Given the description of an element on the screen output the (x, y) to click on. 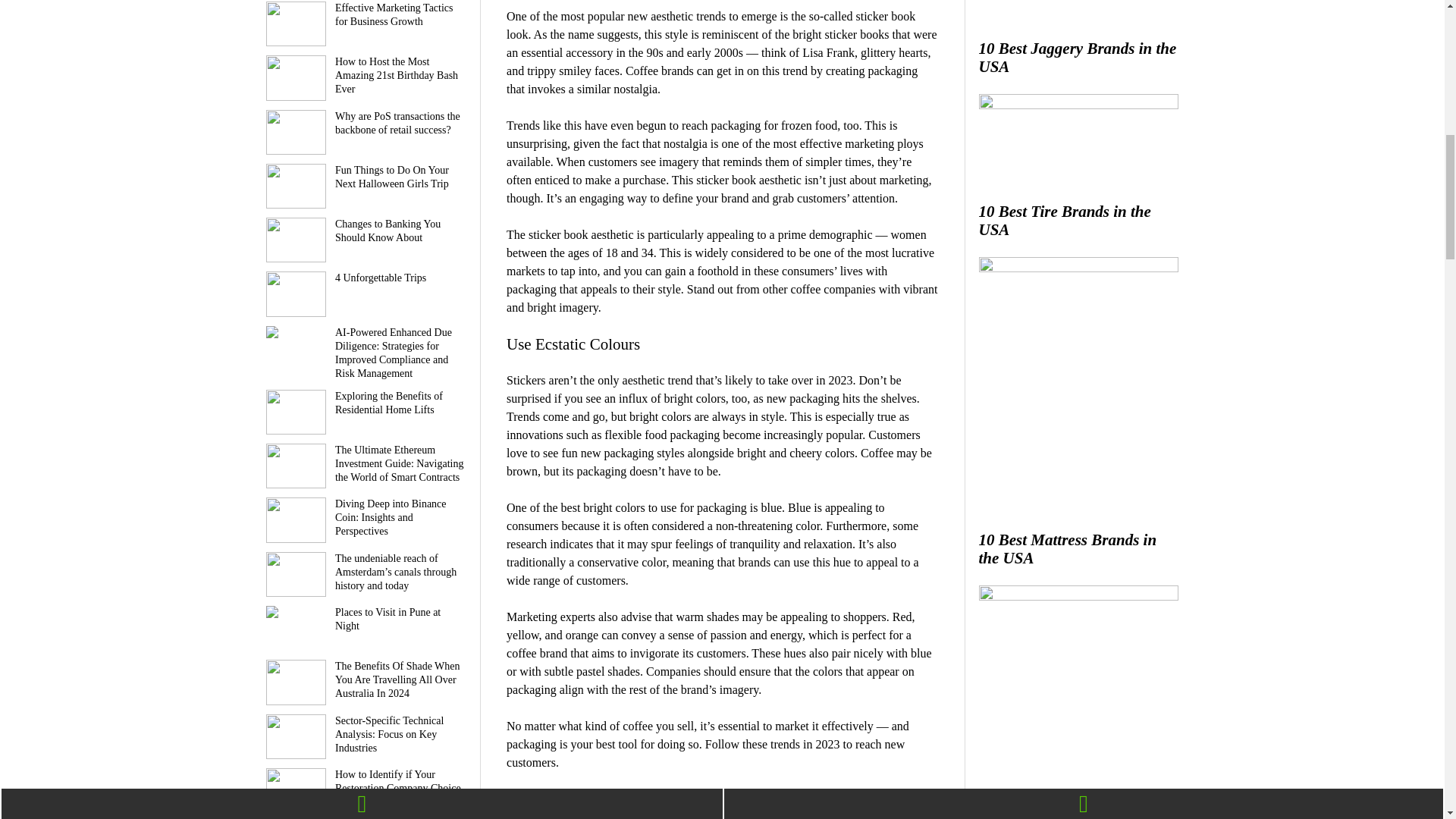
View all posts in business (590, 798)
